Given the description of an element on the screen output the (x, y) to click on. 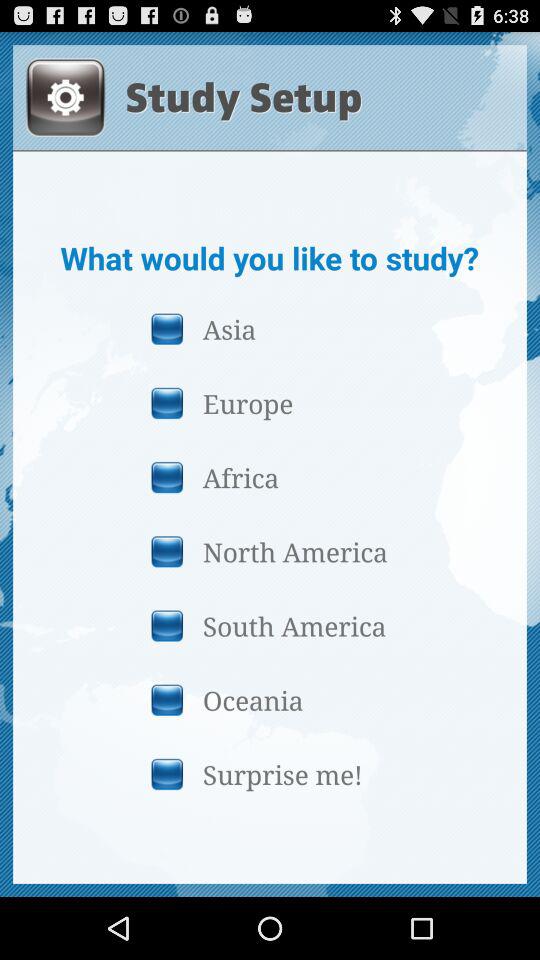
open the icon below asia (269, 402)
